Given the description of an element on the screen output the (x, y) to click on. 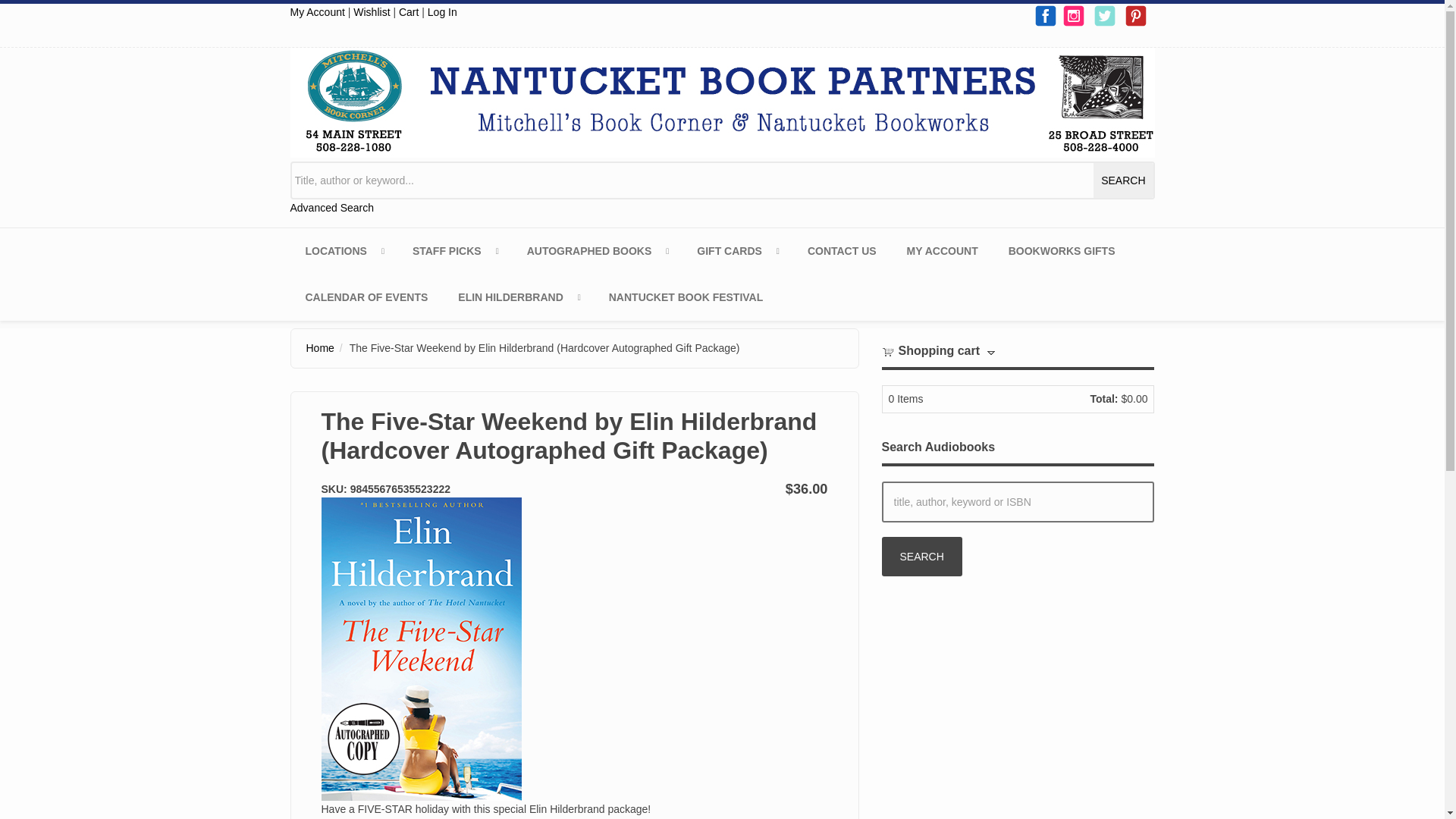
Cart (408, 11)
title, author, keyword or ISBN (1017, 501)
Search (920, 556)
CALENDAR OF EVENTS (365, 297)
Home (721, 101)
Title, author or keyword... (721, 180)
AUTOGRAPHED BOOKS (597, 251)
MY ACCOUNT (941, 251)
search (1123, 180)
